Given the description of an element on the screen output the (x, y) to click on. 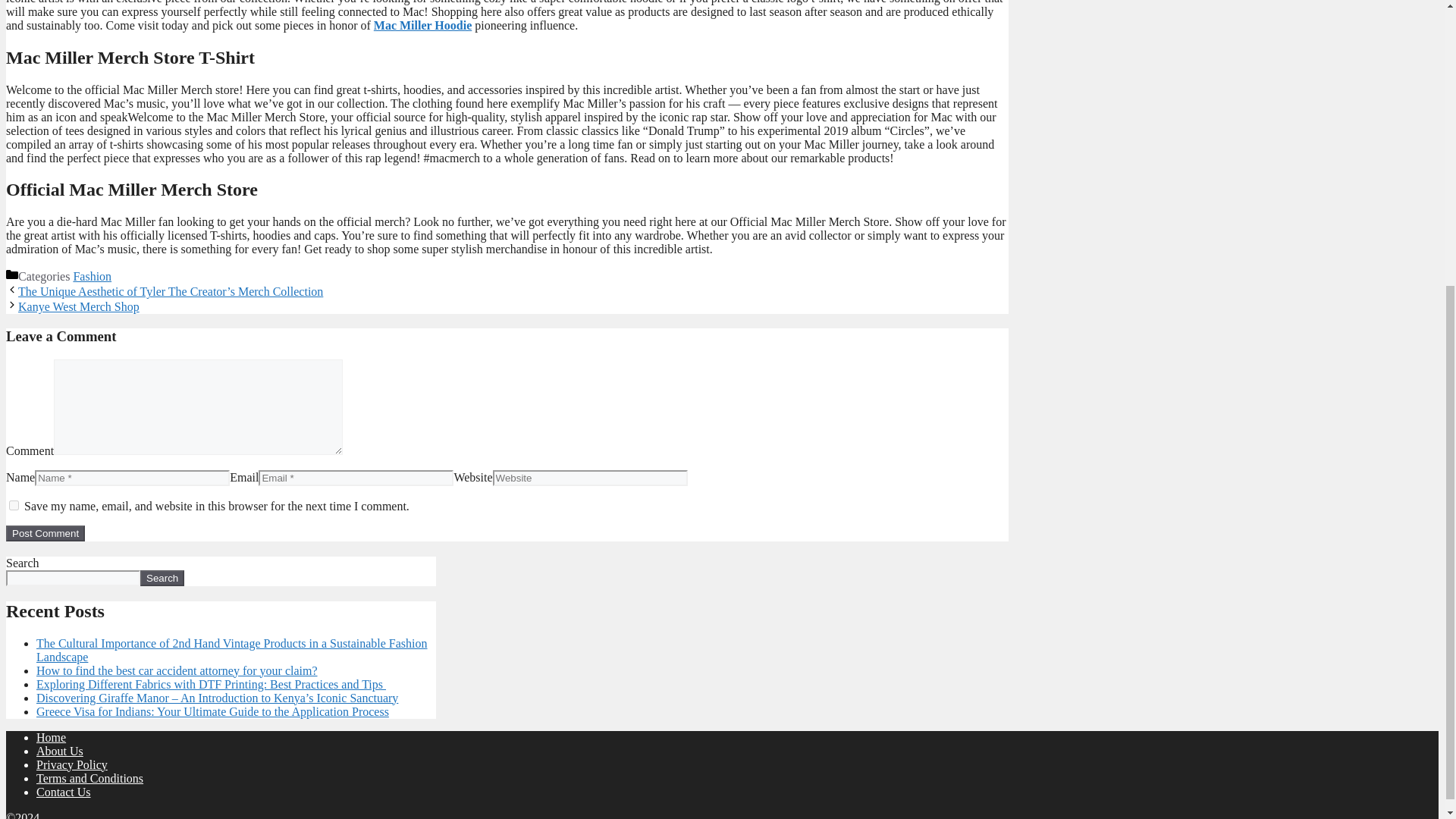
Privacy Policy (71, 764)
Search (161, 578)
Contact Us (63, 791)
Kanye West Merch Shop (78, 306)
How to find the best car accident attorney for your claim? (176, 670)
yes (13, 505)
Terms and Conditions (89, 778)
Post Comment (44, 533)
